Given the description of an element on the screen output the (x, y) to click on. 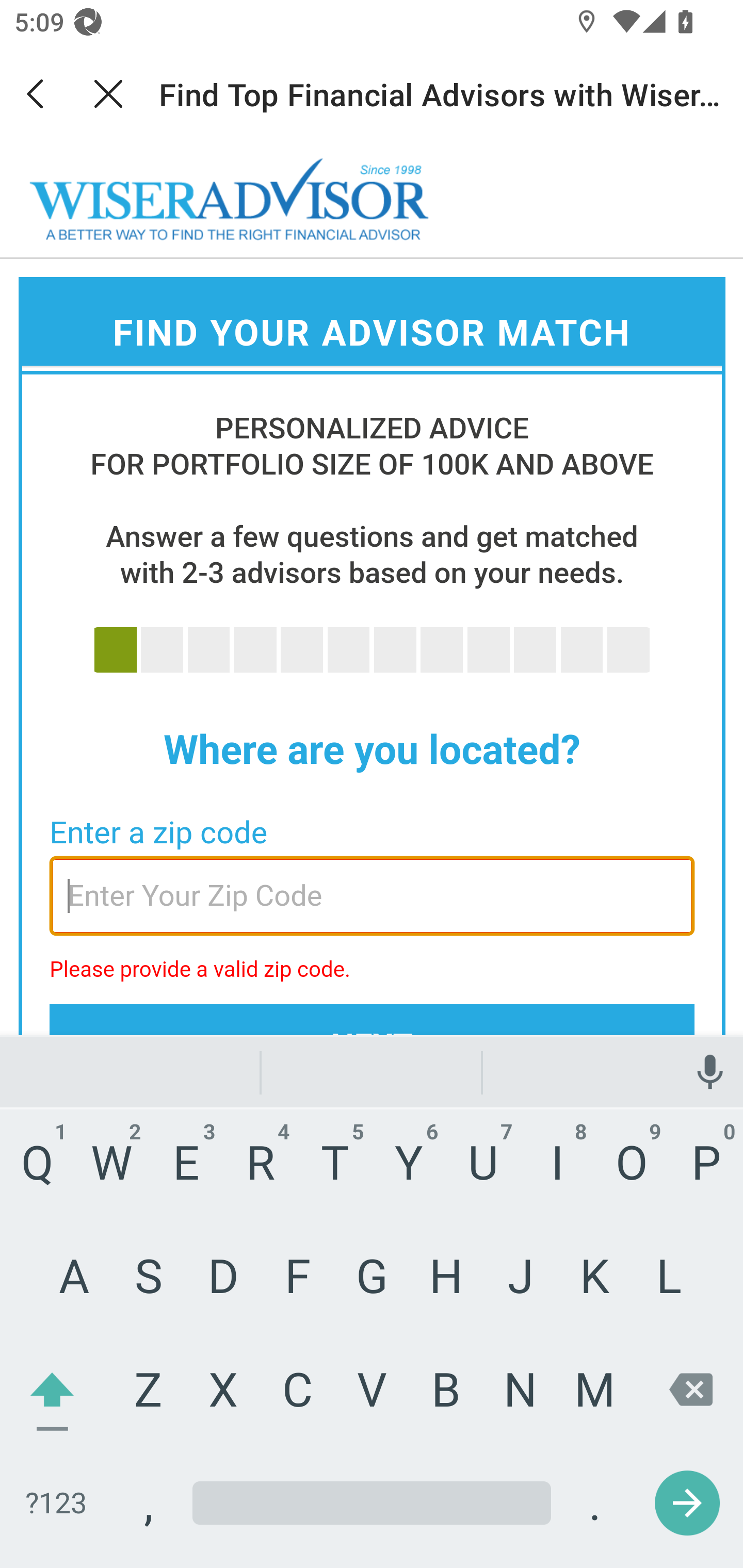
WiserAdvisor (229, 200)
